Given the description of an element on the screen output the (x, y) to click on. 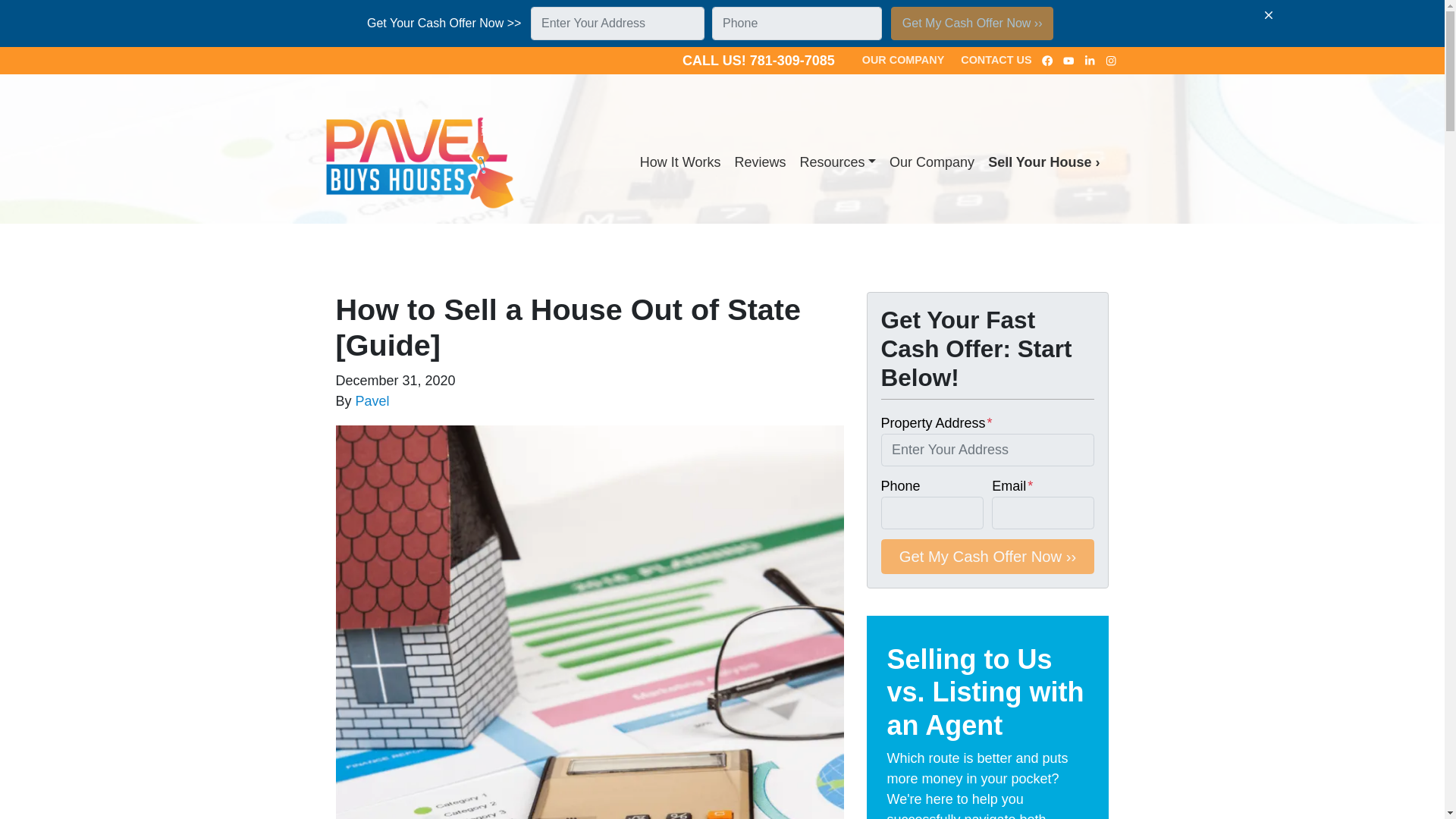
Pavel (372, 400)
How It Works (680, 162)
FACEBOOK (1048, 60)
Resources (837, 162)
YOUTUBE (1068, 60)
Reviews (759, 162)
Our Company (931, 162)
CONTACT US (995, 60)
How It Works (680, 162)
INSTAGRAM (1111, 60)
OUR COMPANY (903, 60)
Our Company (931, 162)
LINKEDIN (1090, 60)
Resources (837, 162)
Reviews (759, 162)
